Given the description of an element on the screen output the (x, y) to click on. 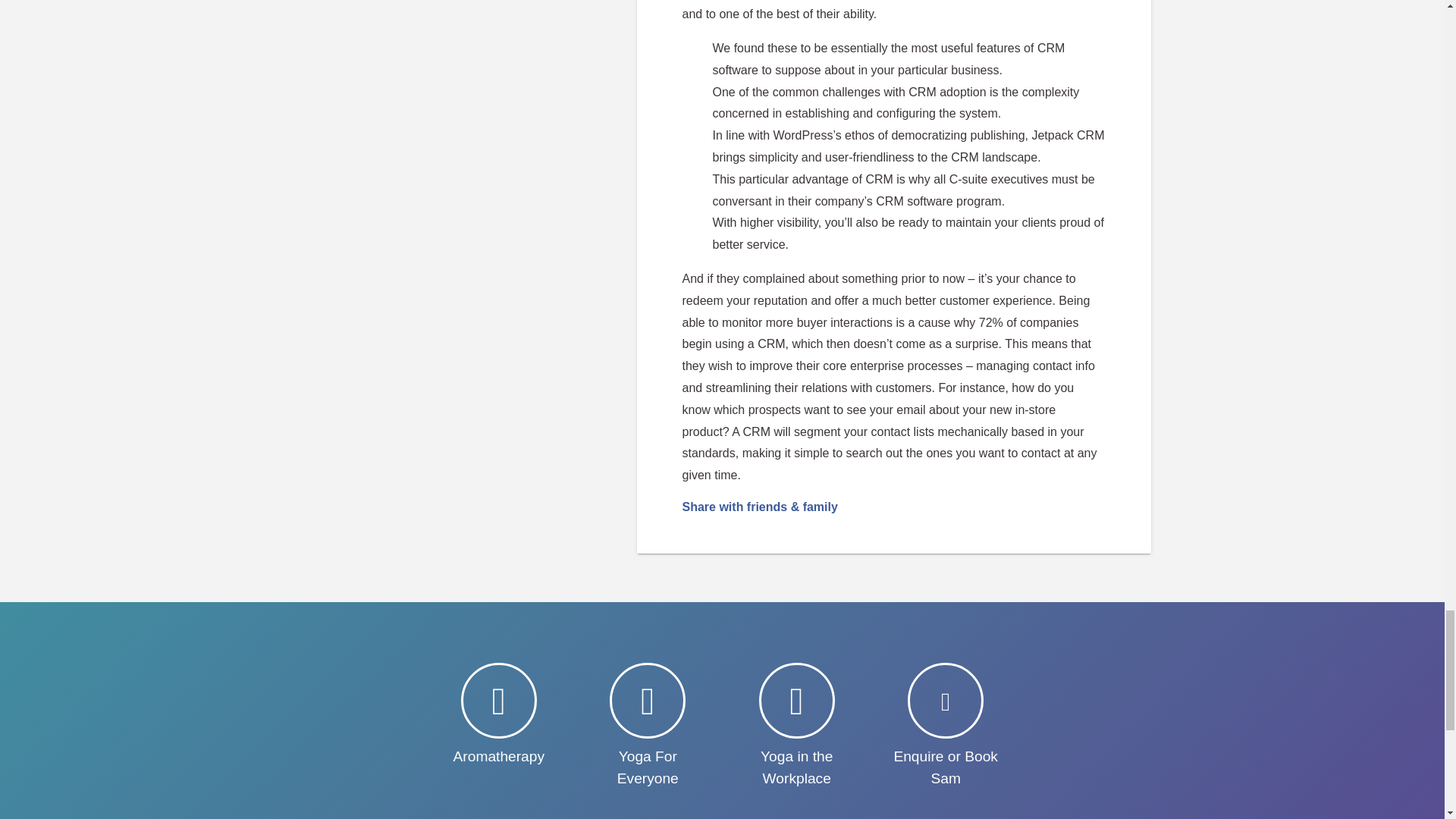
Aromatherapy (499, 714)
Enquire or Book Sam (944, 726)
Yoga For Everyone (647, 726)
Yoga in the Workplace (796, 726)
